Given the description of an element on the screen output the (x, y) to click on. 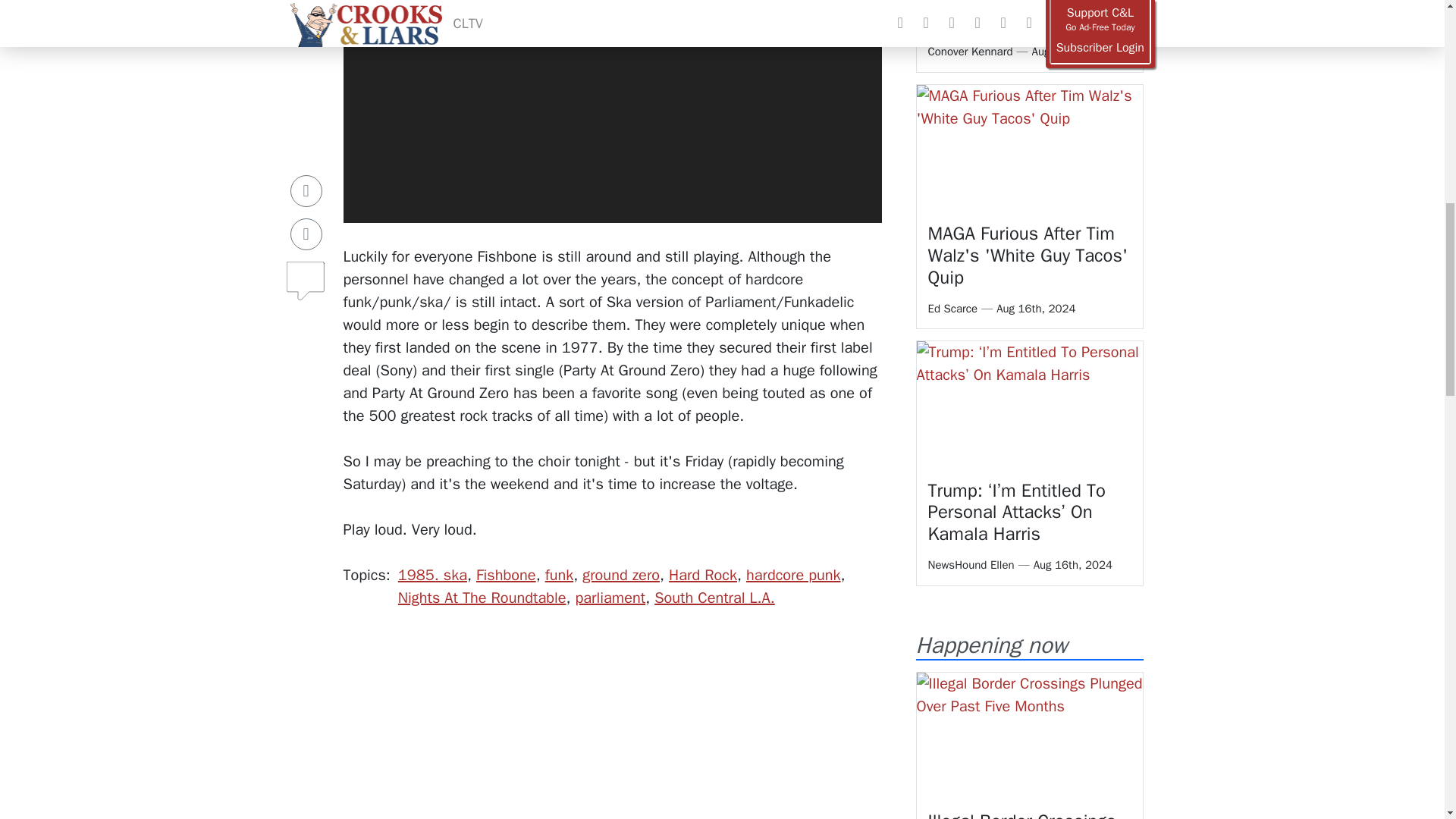
Hard Rock (702, 574)
hardcore punk (793, 574)
Nights At The Roundtable (481, 597)
South Central L.A. (713, 597)
funk (558, 574)
ground zero (620, 574)
1985. ska (432, 574)
Fishbone (505, 574)
parliament (610, 597)
